Given the description of an element on the screen output the (x, y) to click on. 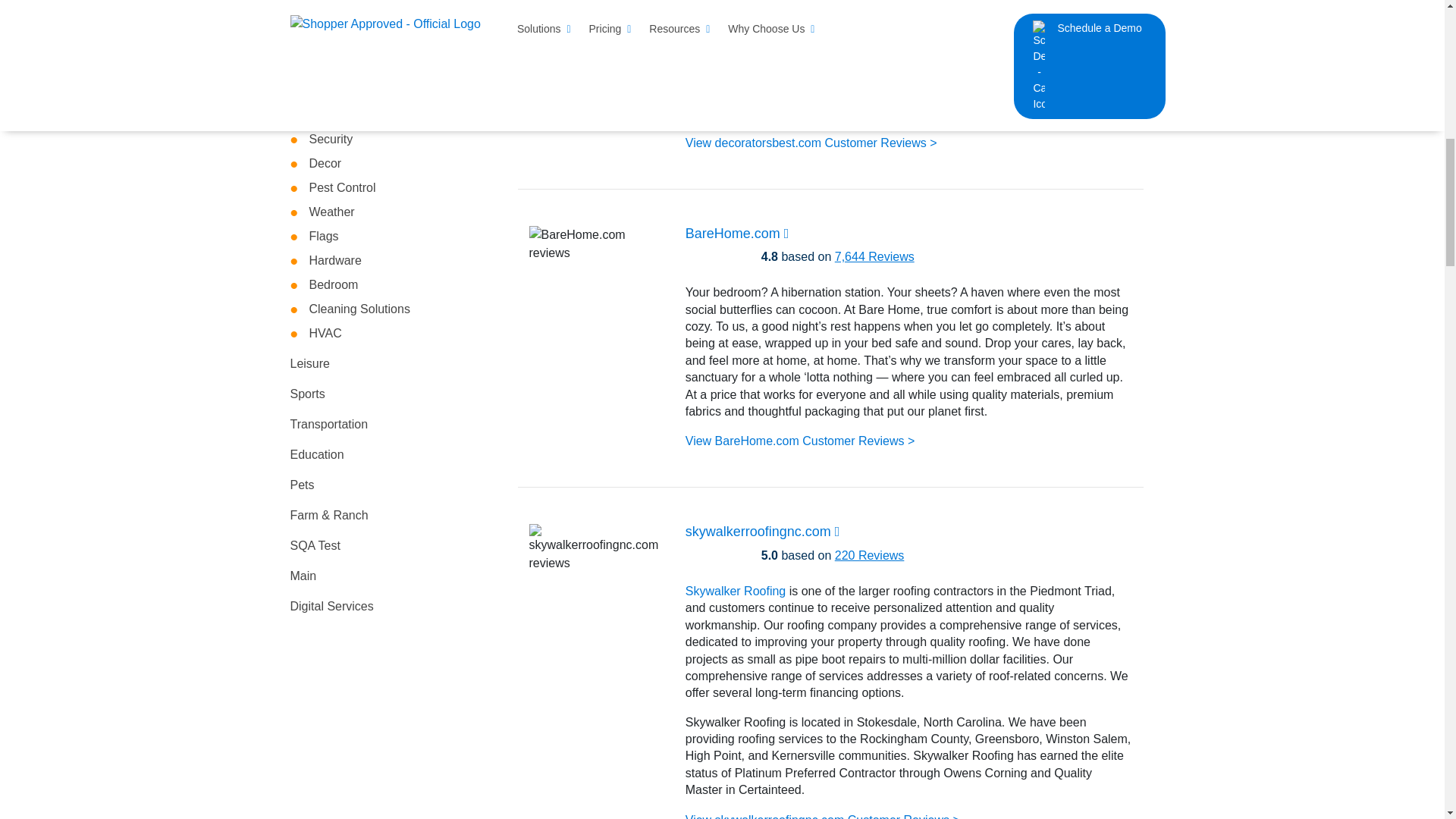
Skywalker Roofing (735, 590)
